Given the description of an element on the screen output the (x, y) to click on. 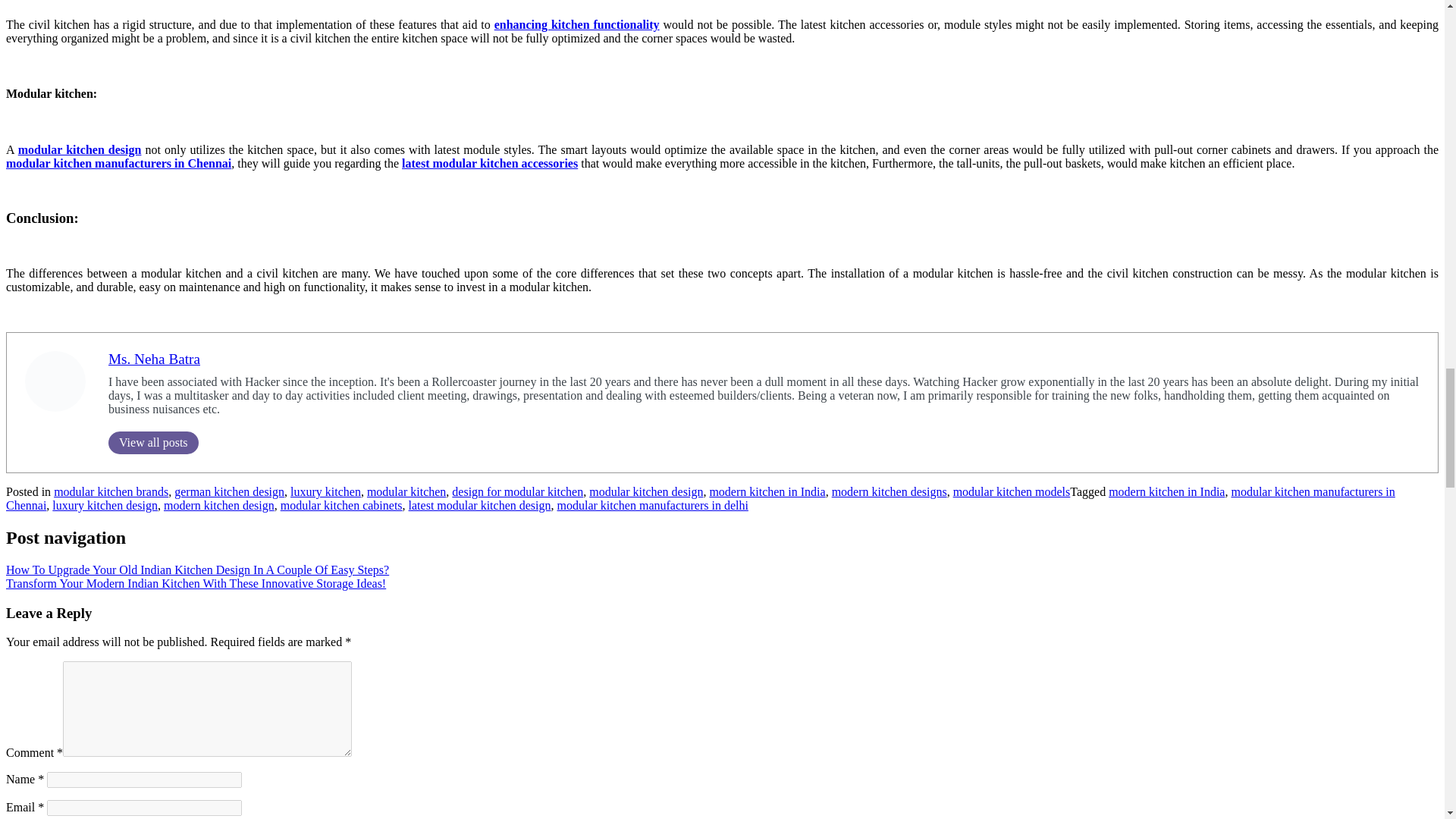
Ms. Neha Batra (153, 358)
modular kitchen design (79, 149)
enhancing kitchen functionality (577, 24)
View all posts (152, 442)
